Given the description of an element on the screen output the (x, y) to click on. 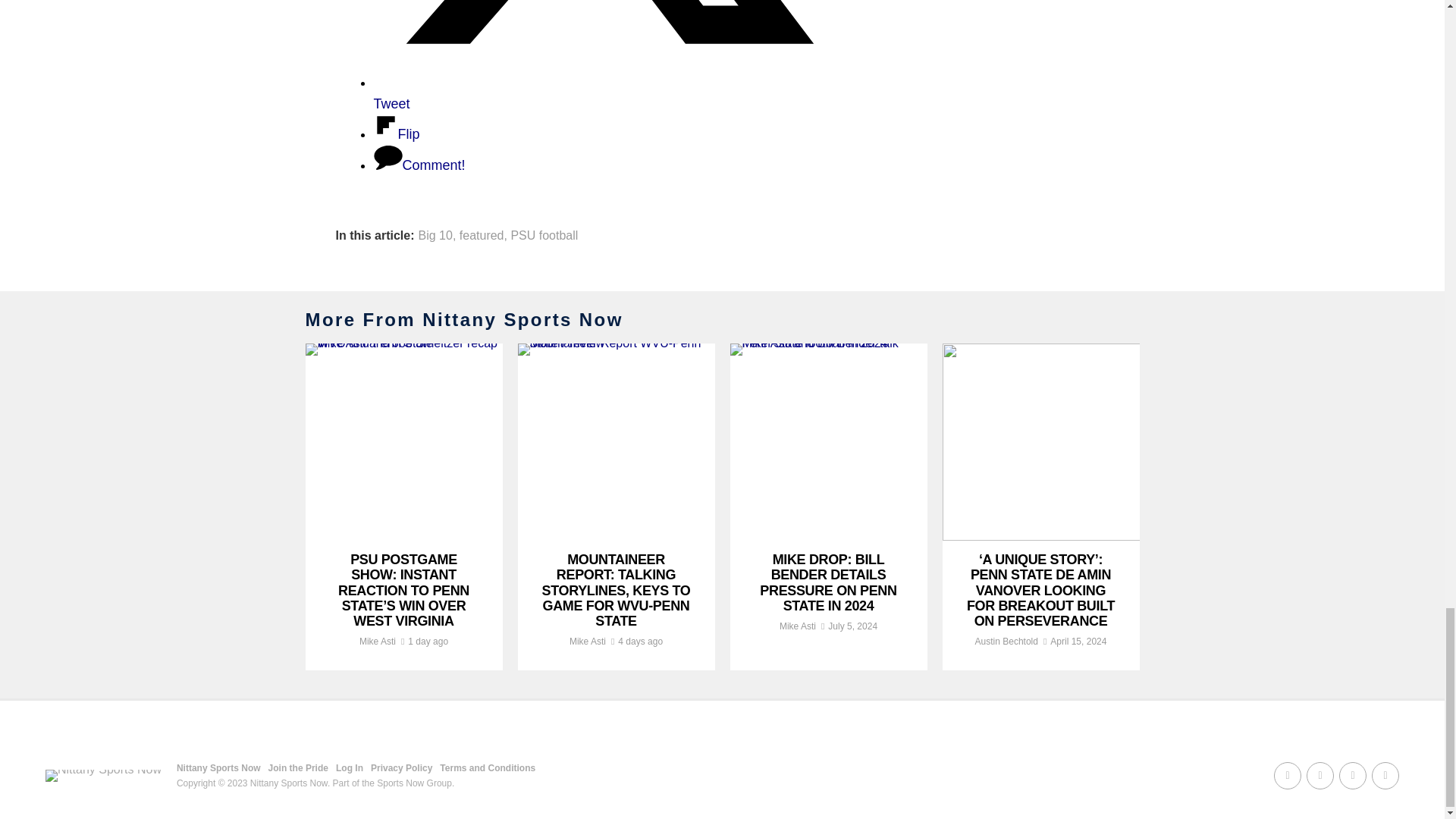
Share on Comment! (418, 165)
Posts by Austin Bechtold (1006, 641)
Posts by Mike Asti (587, 641)
Share on Flip (395, 133)
Posts by Mike Asti (796, 625)
Posts by Mike Asti (377, 641)
Share on Tweet (603, 93)
